Given the description of an element on the screen output the (x, y) to click on. 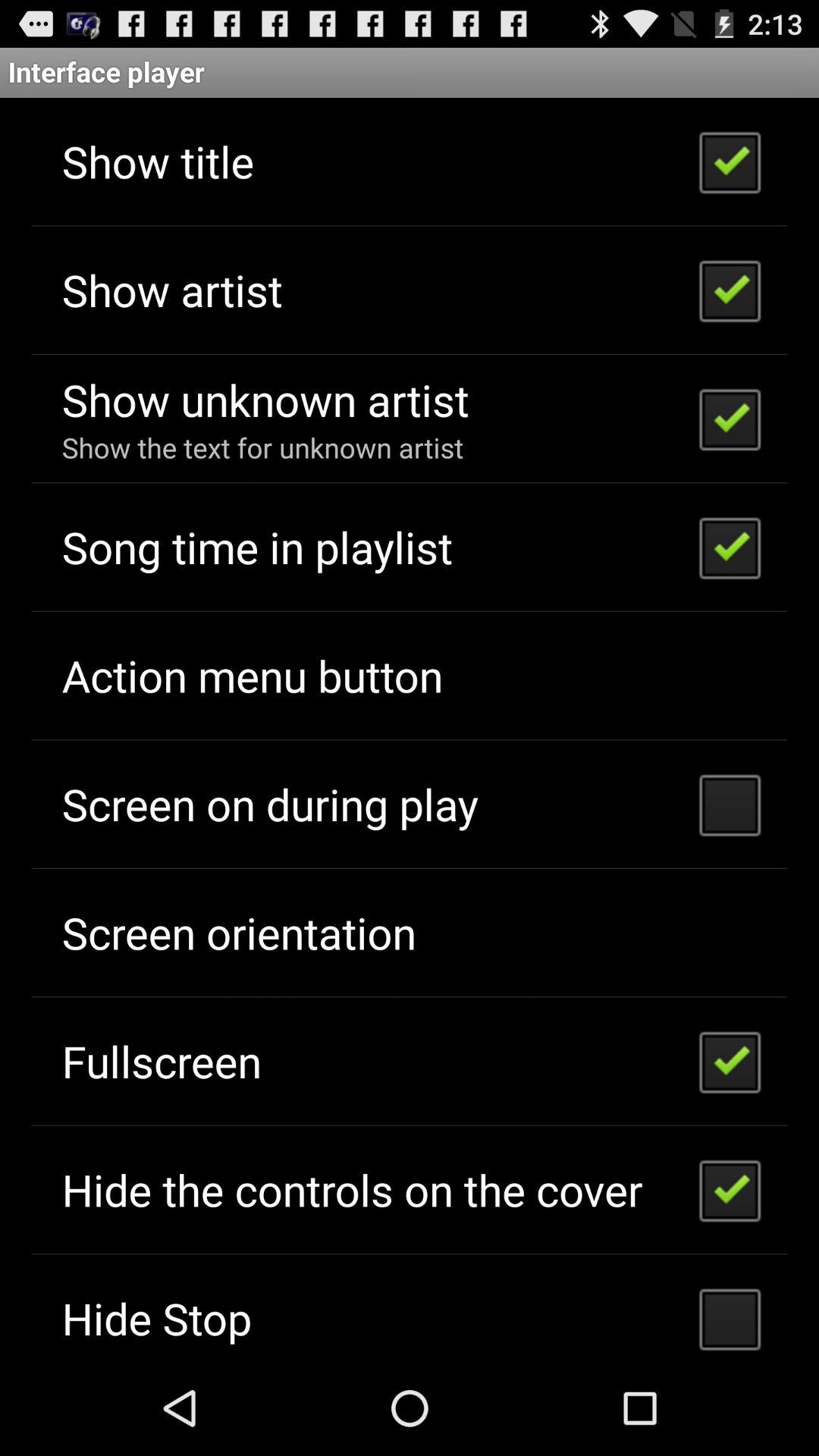
jump to the hide the controls app (351, 1189)
